Given the description of an element on the screen output the (x, y) to click on. 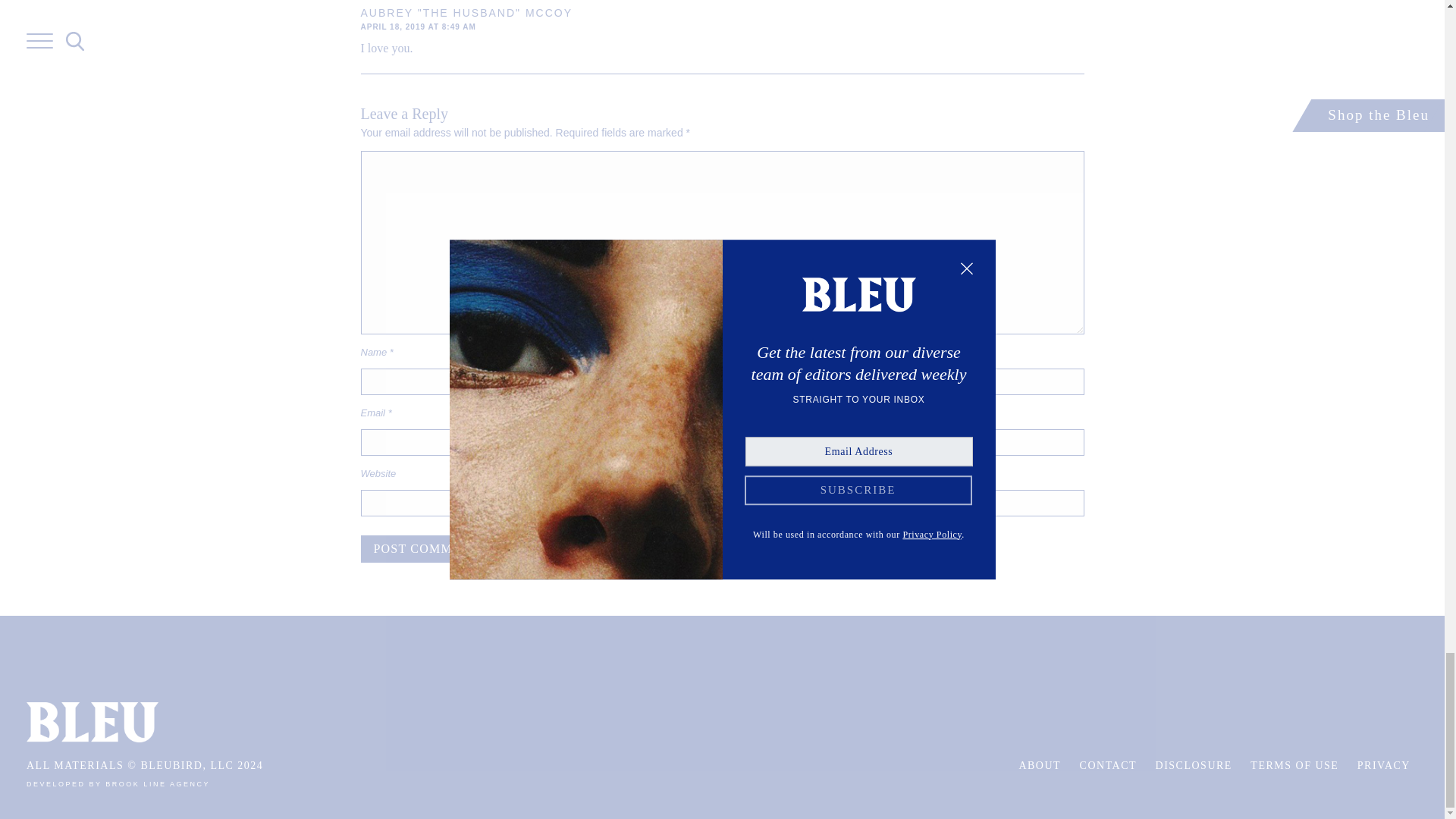
Post Comment (426, 548)
